Given the description of an element on the screen output the (x, y) to click on. 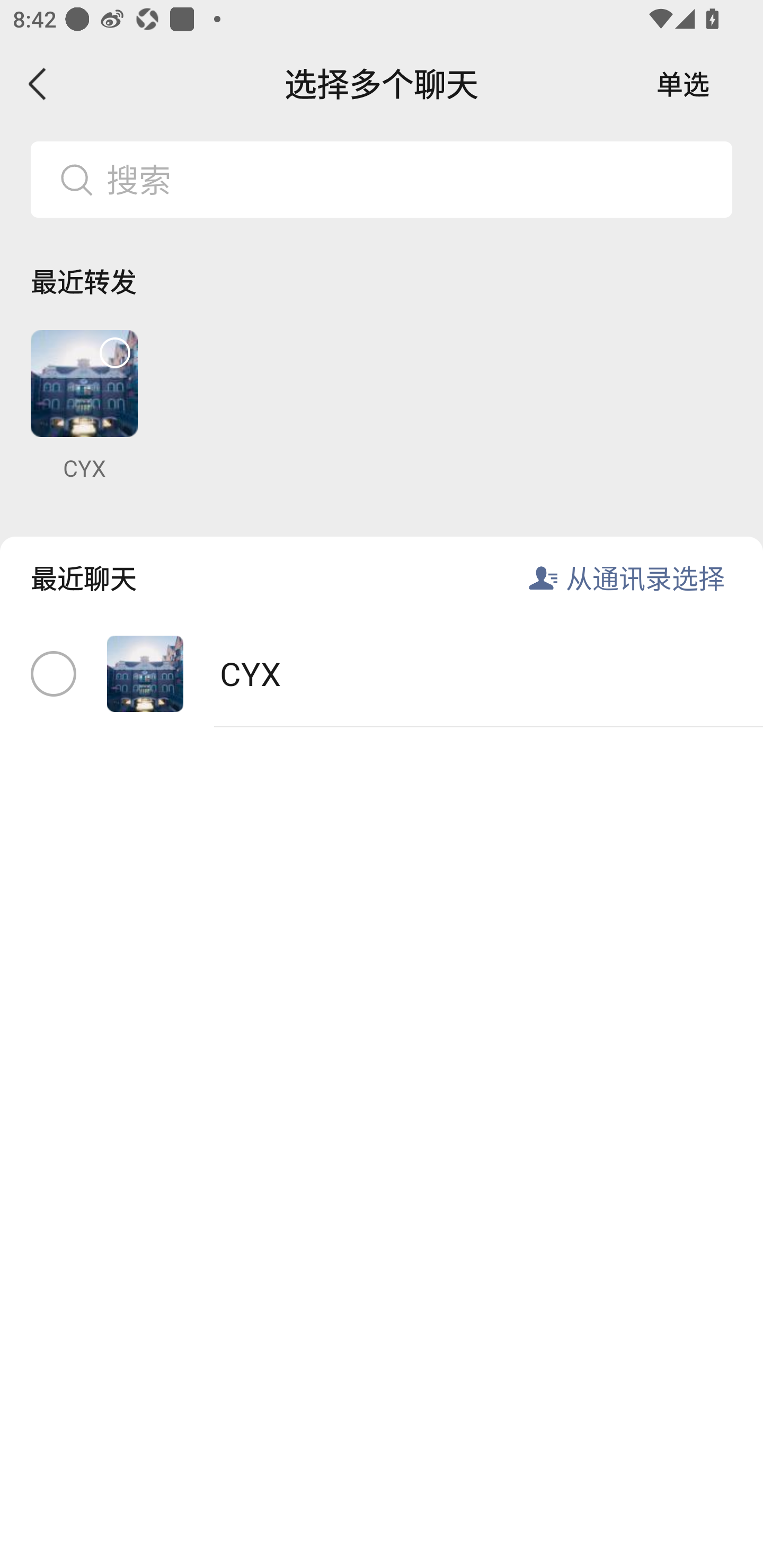
返回 (38, 83)
单选 (683, 83)
搜索 (411, 179)
CYX (84, 405)
从通讯录选择 (645, 577)
CYX (381, 673)
